Given the description of an element on the screen output the (x, y) to click on. 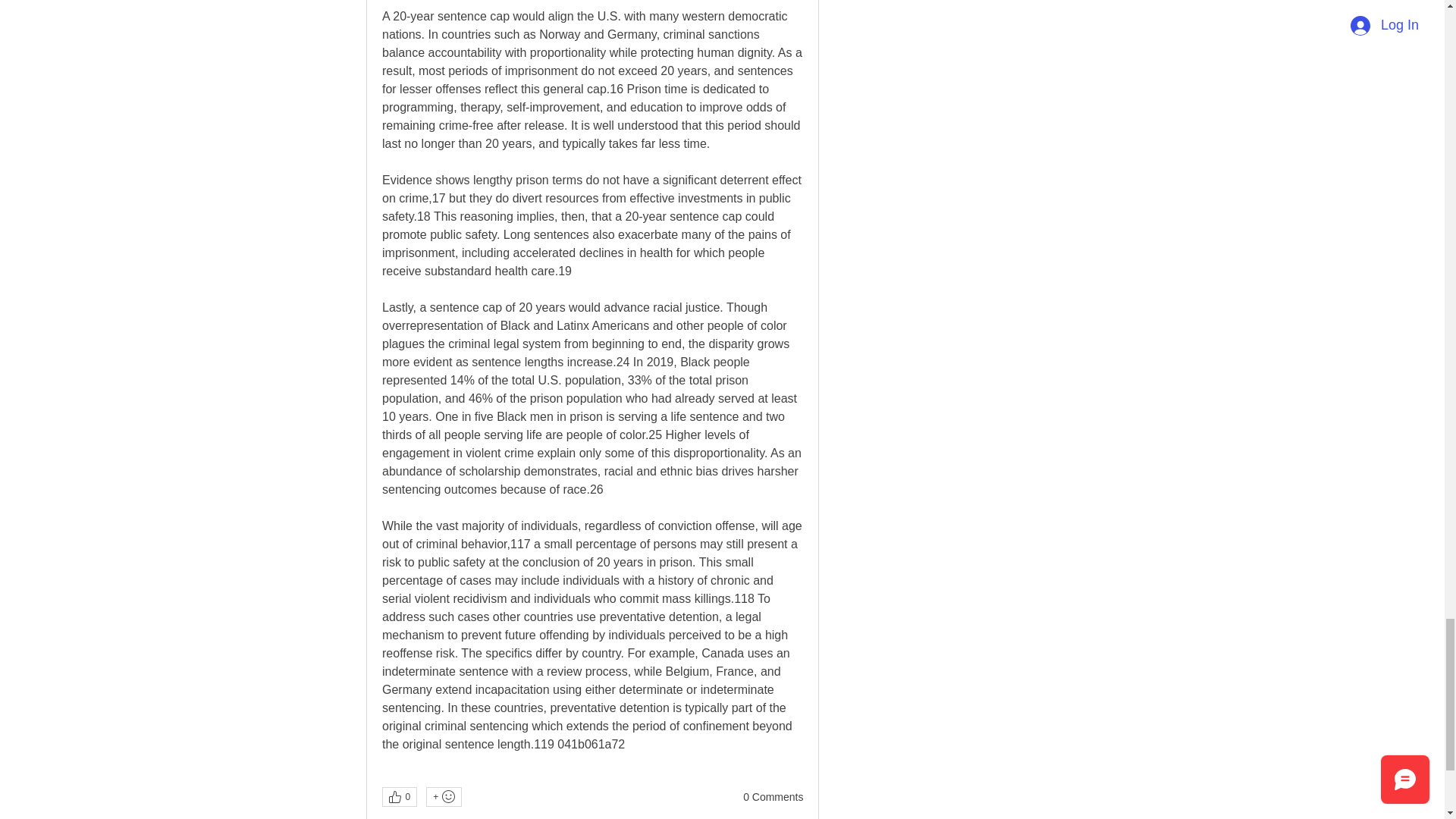
0 Comments (772, 797)
